Given the description of an element on the screen output the (x, y) to click on. 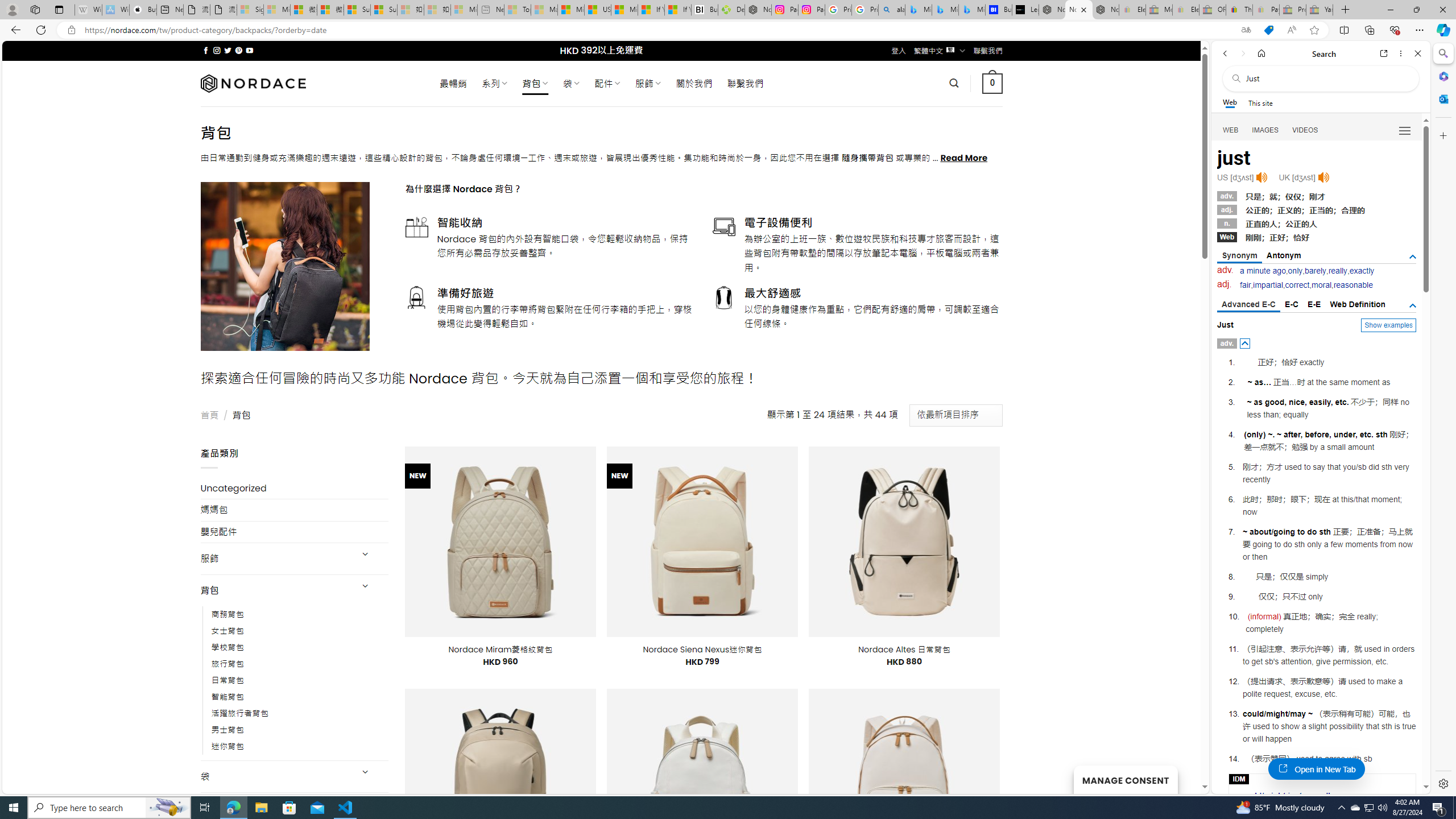
Uncategorized (294, 488)
Follow on Facebook (205, 50)
